Given the description of an element on the screen output the (x, y) to click on. 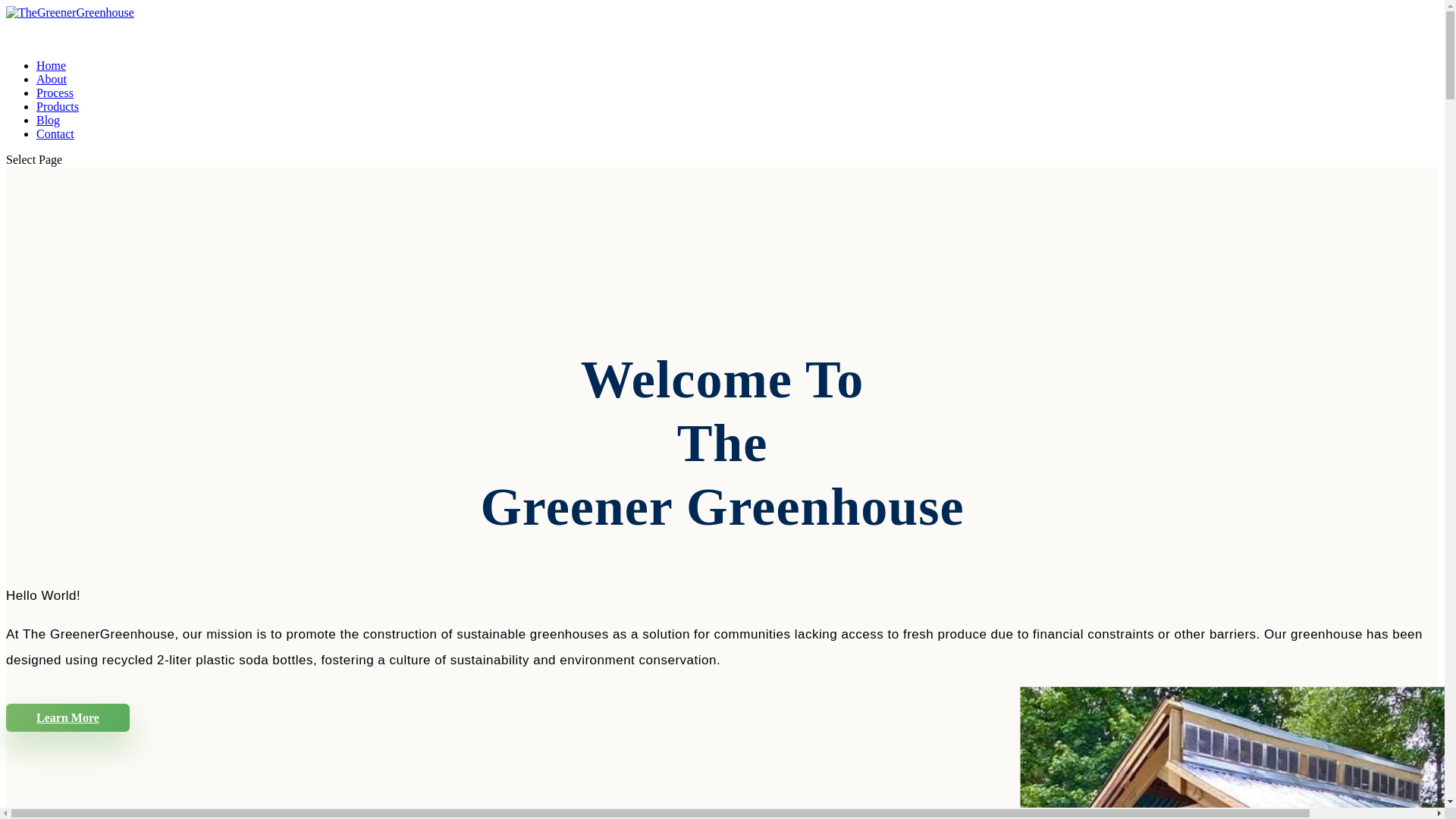
Process (55, 106)
Contact (55, 147)
main greenhouse (1238, 753)
Products (57, 119)
Learn More (67, 717)
